Given the description of an element on the screen output the (x, y) to click on. 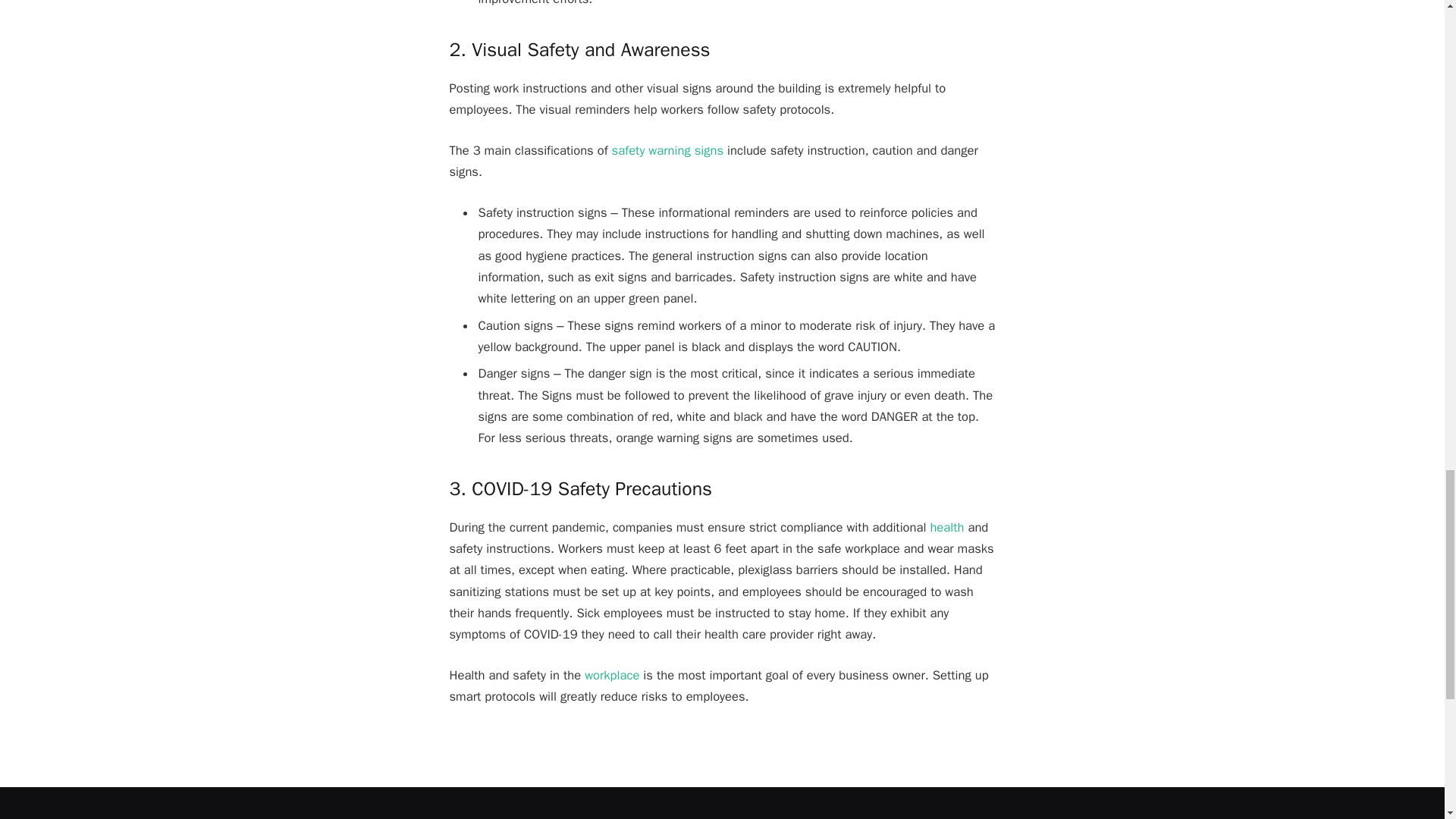
workplace (612, 675)
safety warning signs (667, 150)
health (946, 527)
